Given the description of an element on the screen output the (x, y) to click on. 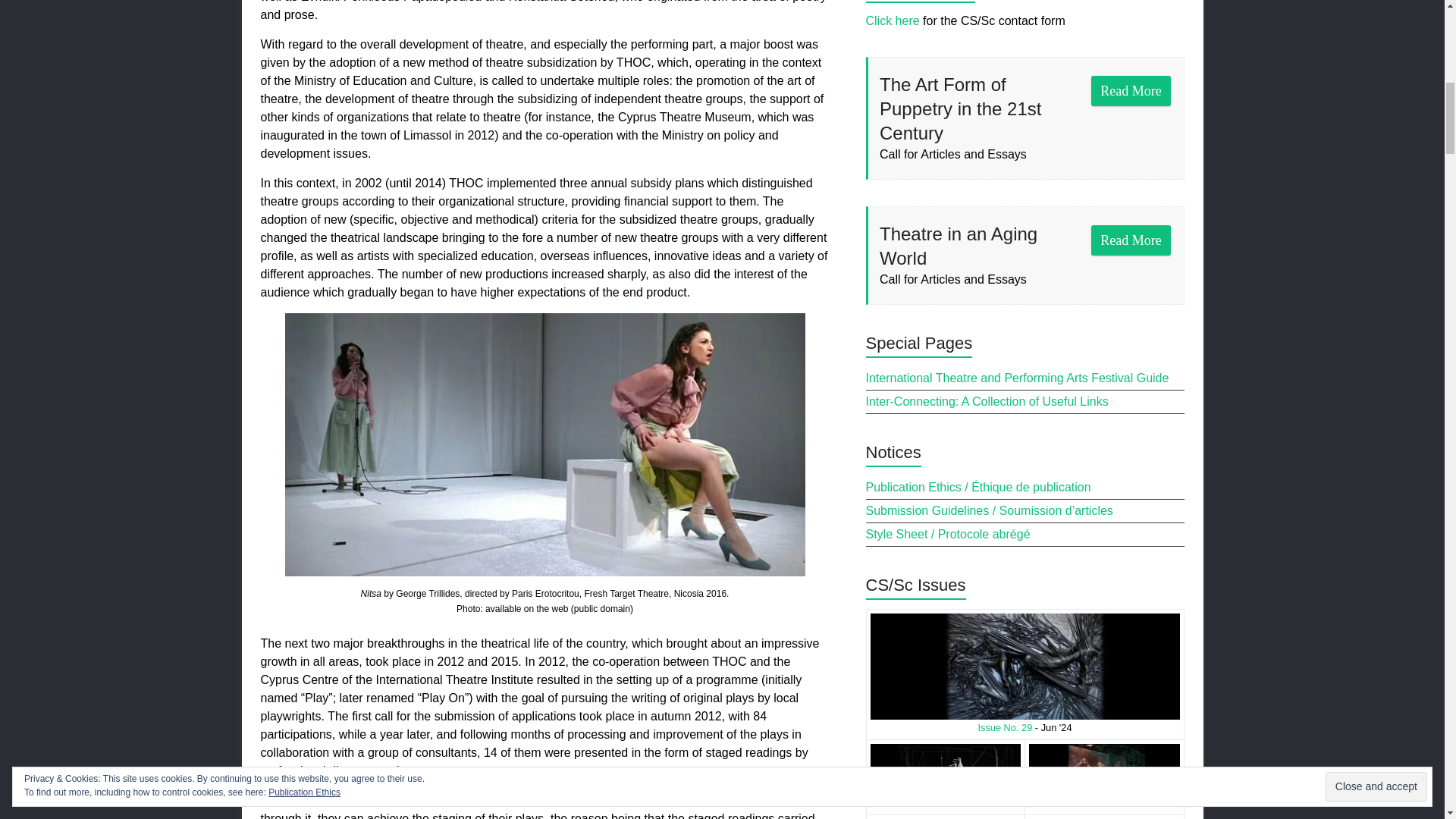
International Theatre and Performing Arts Festival Guide (1017, 377)
Inter-Connecting: A Collection of Useful Links (987, 400)
Read More (1131, 91)
Click here (893, 20)
Read More (1131, 240)
Read More (1131, 91)
Read More (1131, 240)
